Given the description of an element on the screen output the (x, y) to click on. 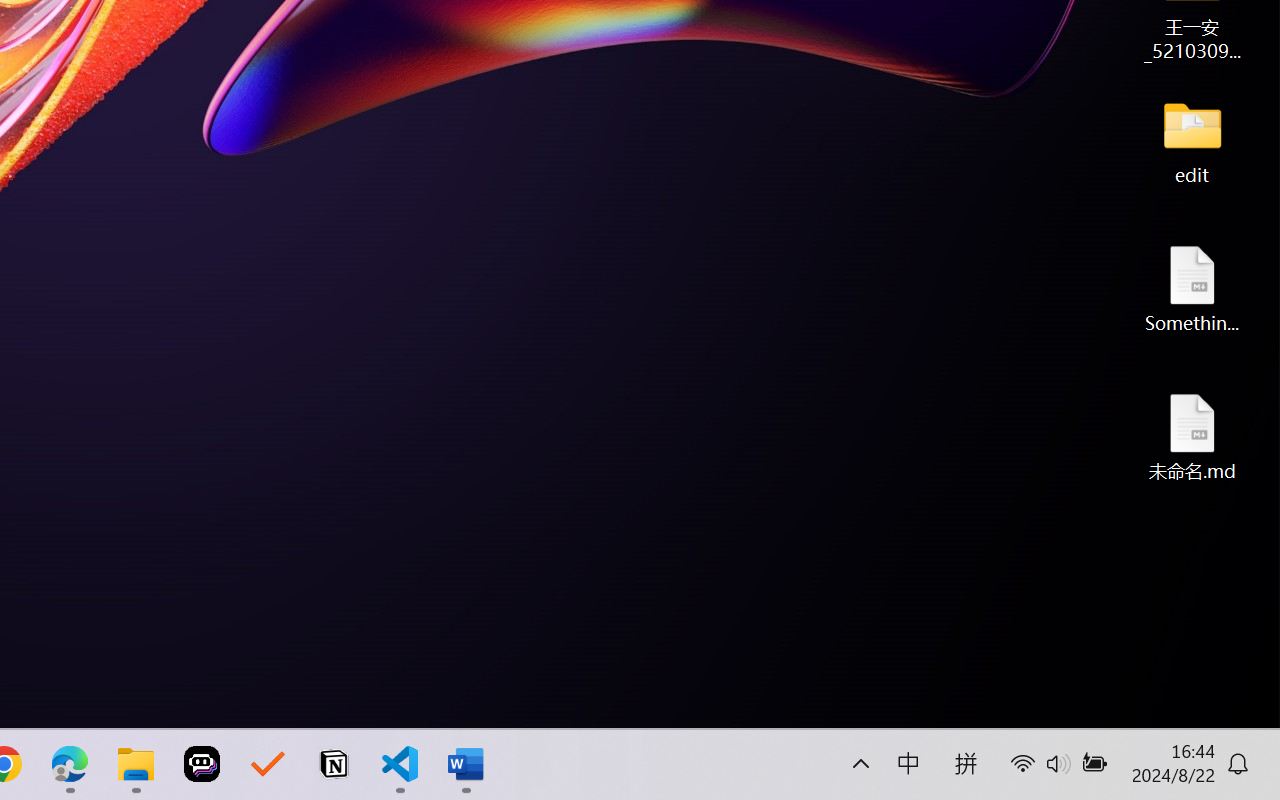
Something.md (1192, 288)
